Given the description of an element on the screen output the (x, y) to click on. 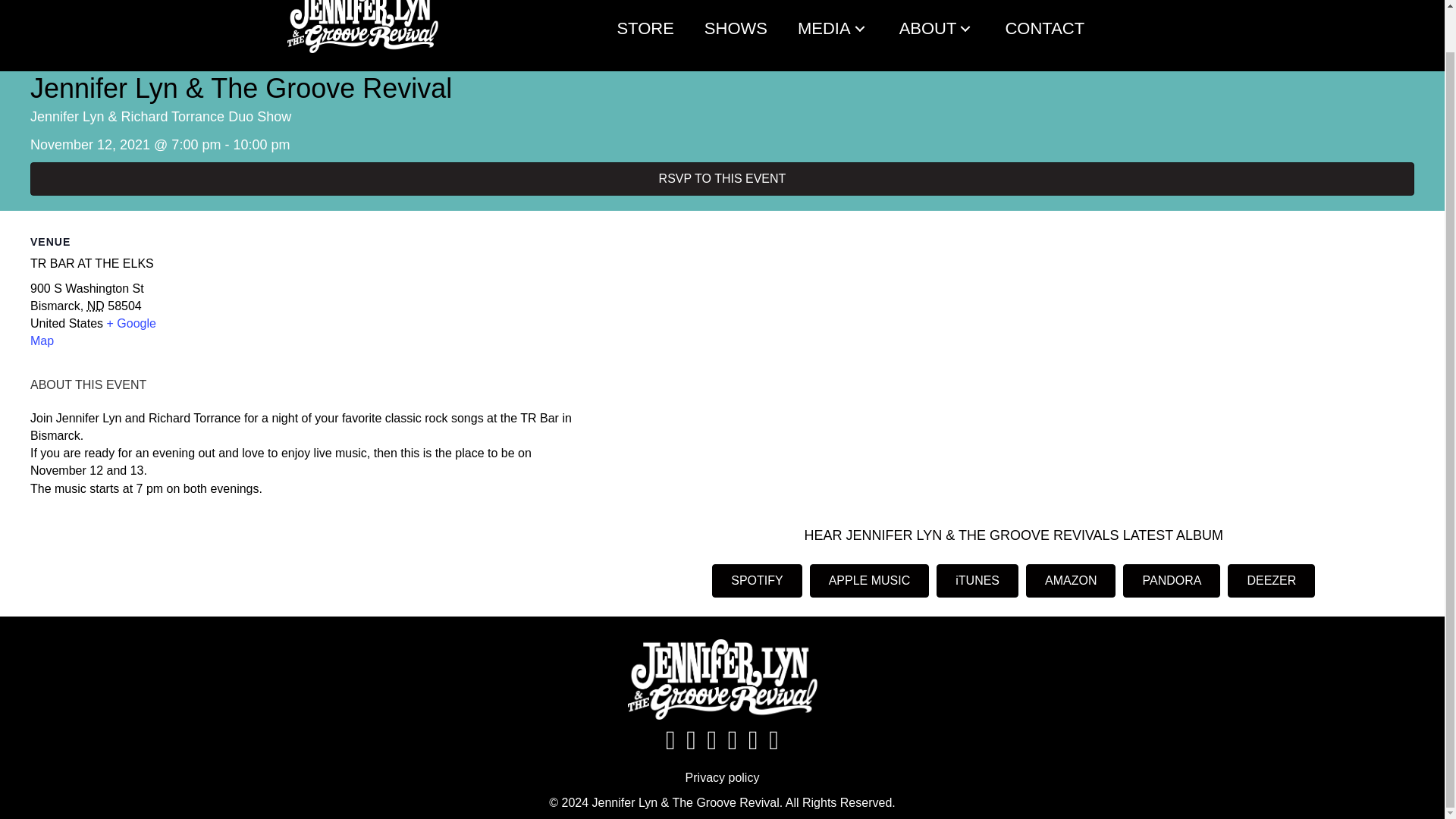
RSVP TO THIS EVENT (721, 178)
Click to view a Google Map (92, 331)
MEDIA (833, 28)
Privacy policy (722, 777)
Amazon Music (1093, 4)
iTUNES (976, 580)
SPOTIFY (756, 580)
PANDORA (1171, 580)
Apple Music (1138, 4)
AMAZON (1070, 580)
DEEZER (1270, 580)
STORE (644, 28)
Instagram (956, 4)
YouTube (1001, 4)
